Given the description of an element on the screen output the (x, y) to click on. 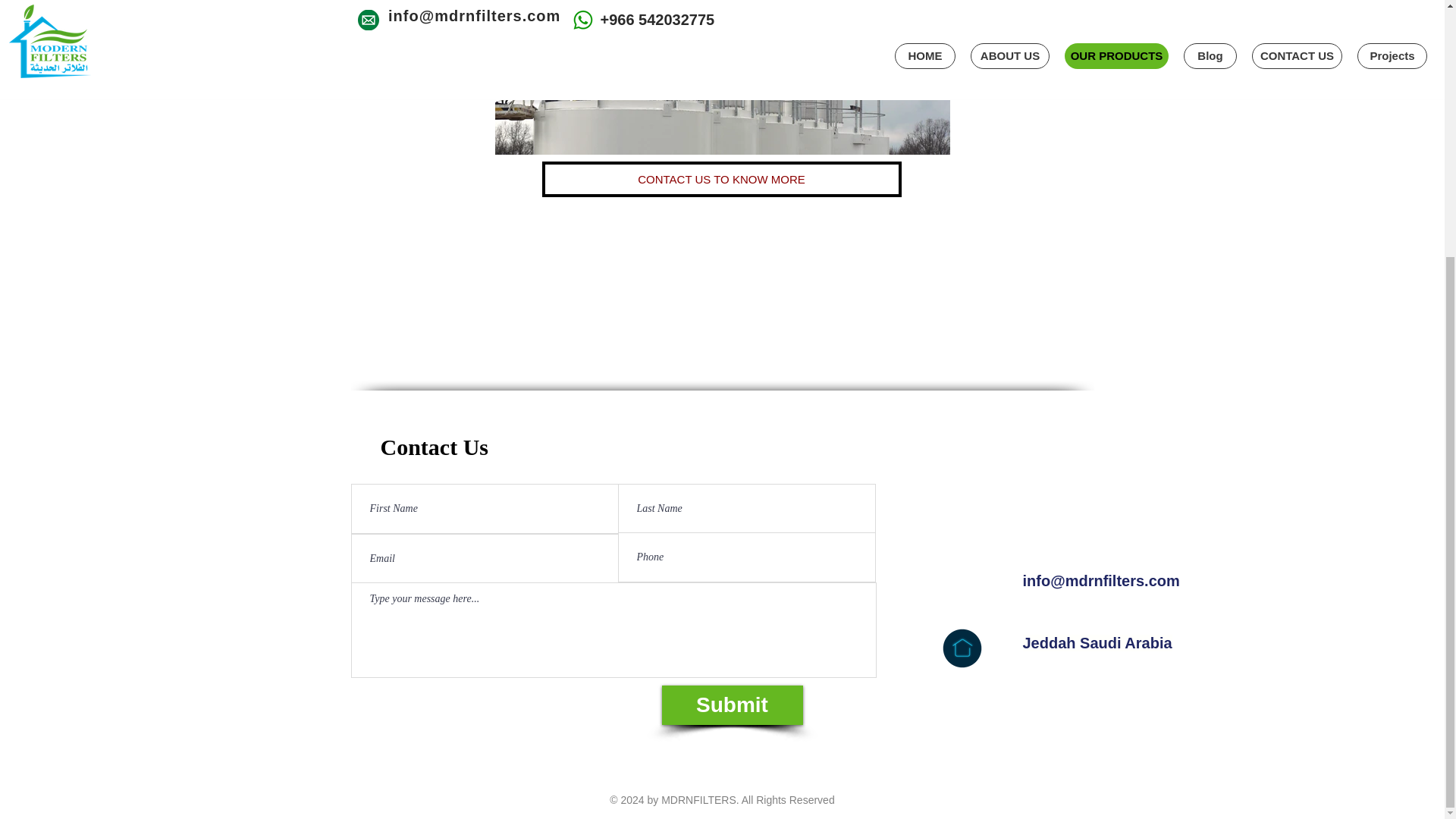
CONTACT US TO KNOW MORE (721, 179)
Submit (731, 704)
